Given the description of an element on the screen output the (x, y) to click on. 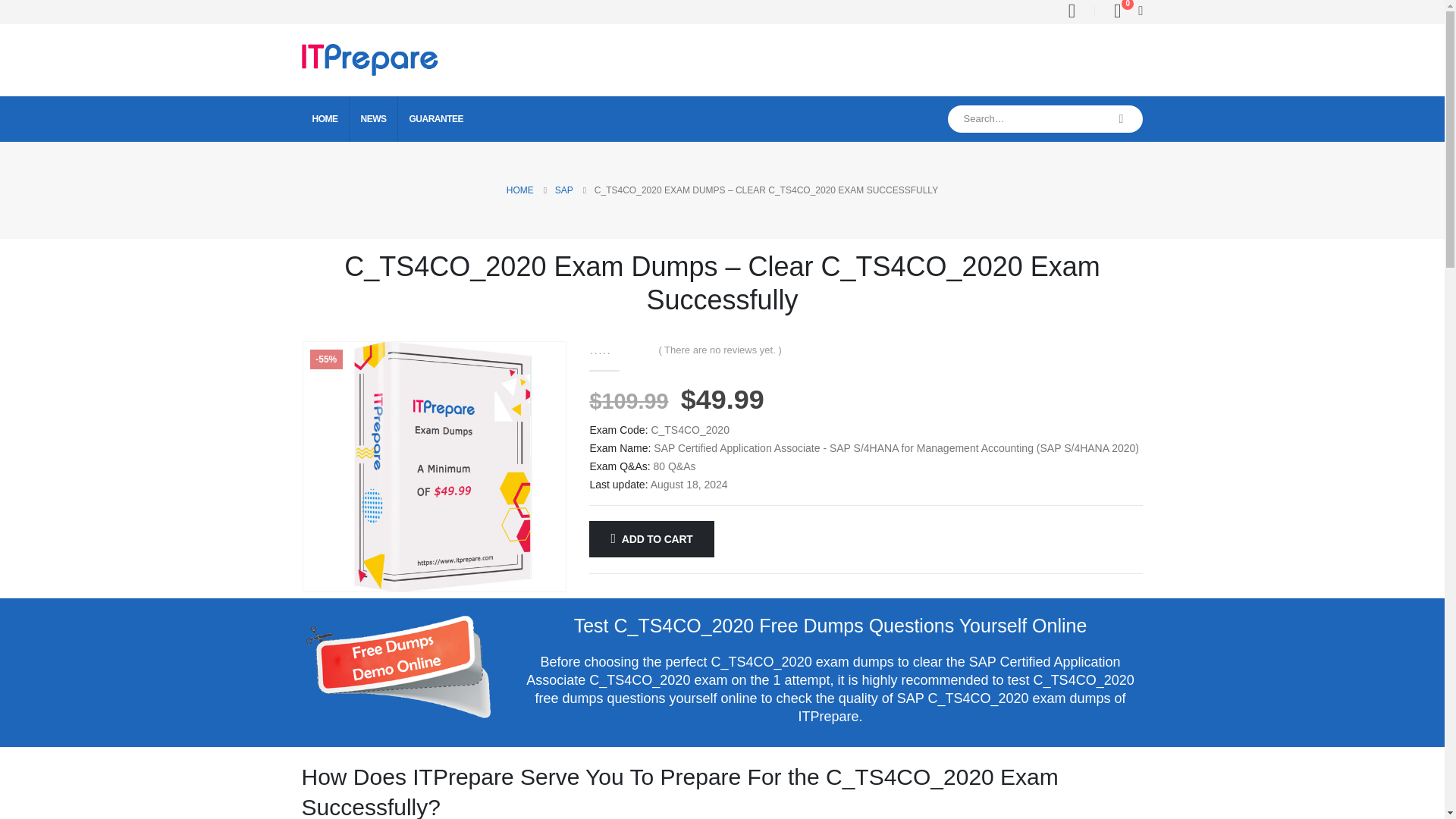
My Account (1071, 11)
Search (1121, 118)
HOME (325, 118)
HOME (520, 189)
SAP (563, 189)
ADD TO CART (651, 538)
Go to Home Page (520, 189)
1 (398, 666)
GUARANTEE (436, 118)
NEWS (373, 118)
